Given the description of an element on the screen output the (x, y) to click on. 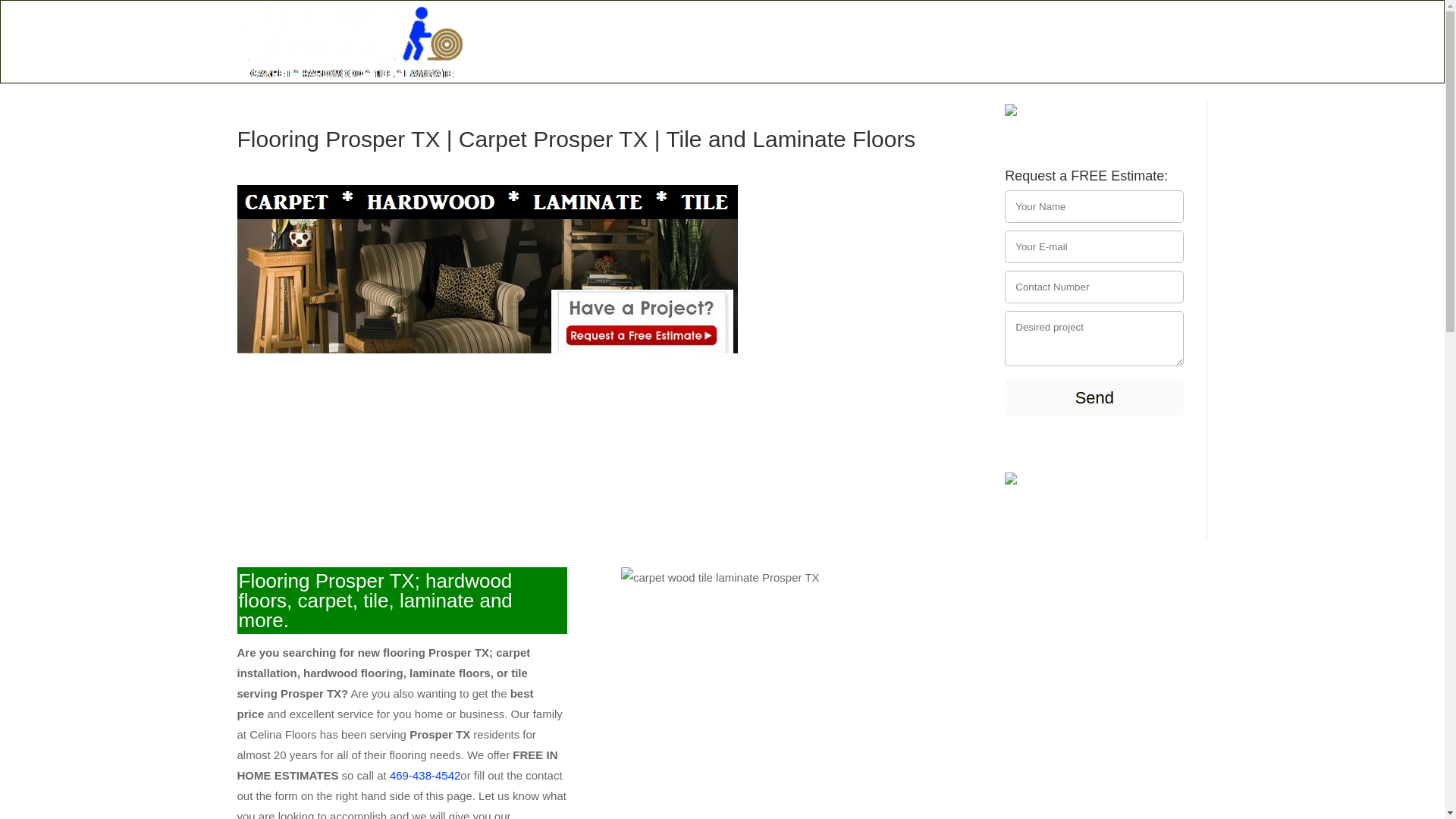
Hardwood (726, 59)
Tile (790, 59)
Remodeling (940, 59)
469-438-4542 (1134, 59)
Home (591, 59)
Send (1093, 397)
Contact Us (1035, 59)
Carpet (651, 59)
Send (1093, 397)
469-438-4542 (425, 775)
Laminate (852, 59)
